Given the description of an element on the screen output the (x, y) to click on. 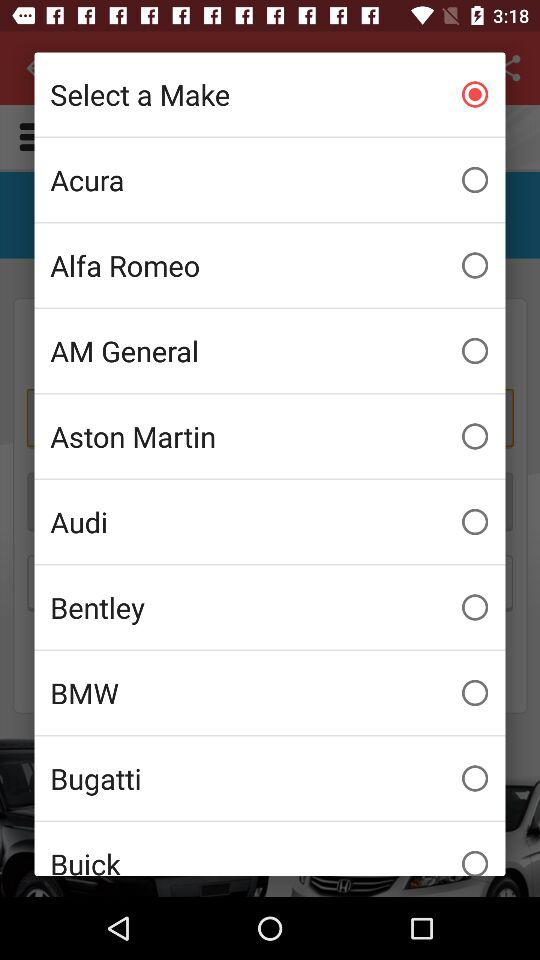
swipe until audi (269, 521)
